Given the description of an element on the screen output the (x, y) to click on. 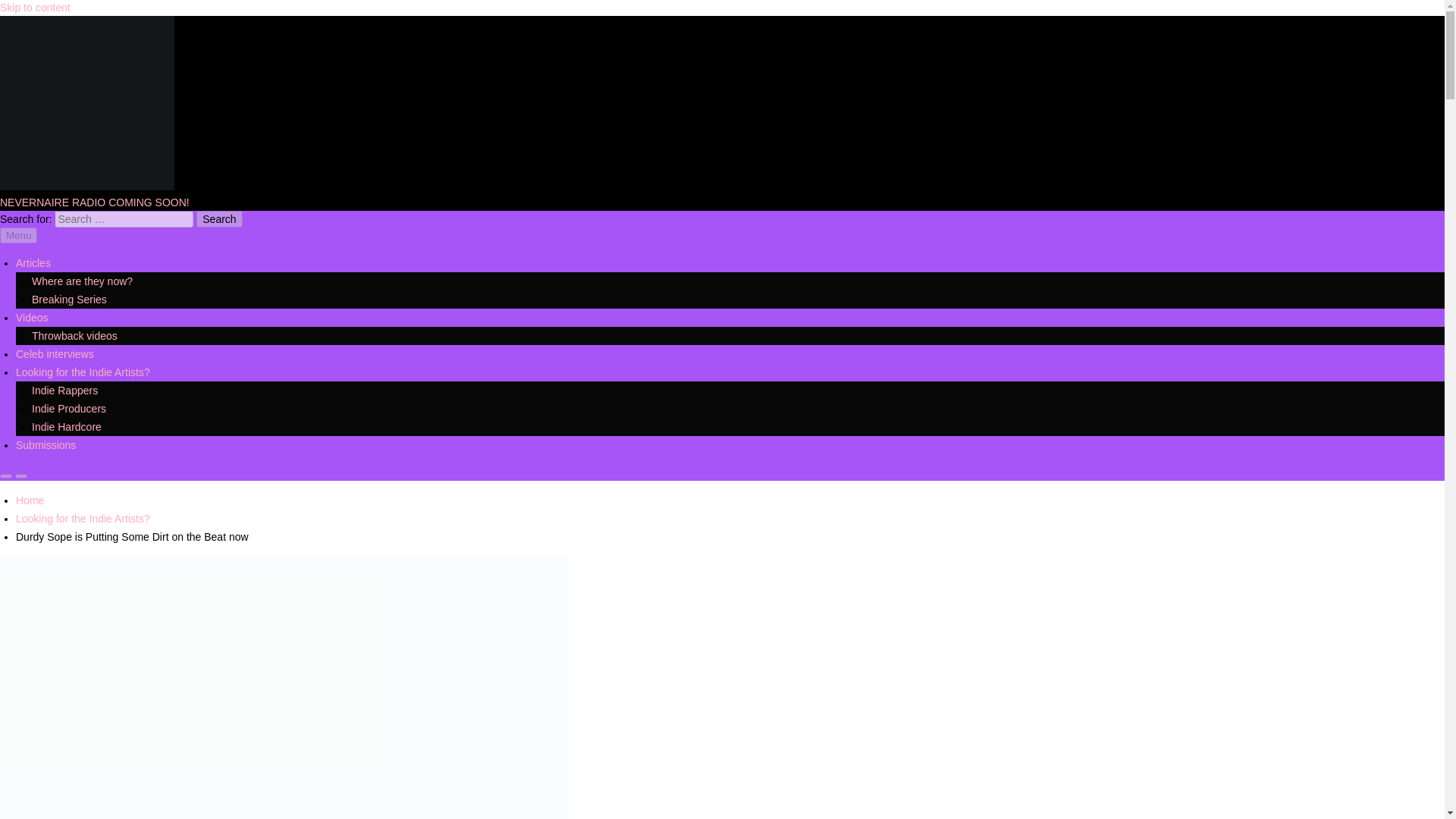
Indie Producers (69, 408)
Indie Rappers (64, 390)
Where are they now? (82, 281)
Indie Hardcore (66, 426)
Search (218, 218)
Nevernaire (25, 213)
Breaking Series (69, 299)
Looking for the Indie Artists? (82, 372)
Search (218, 218)
Videos (32, 317)
